Given the description of an element on the screen output the (x, y) to click on. 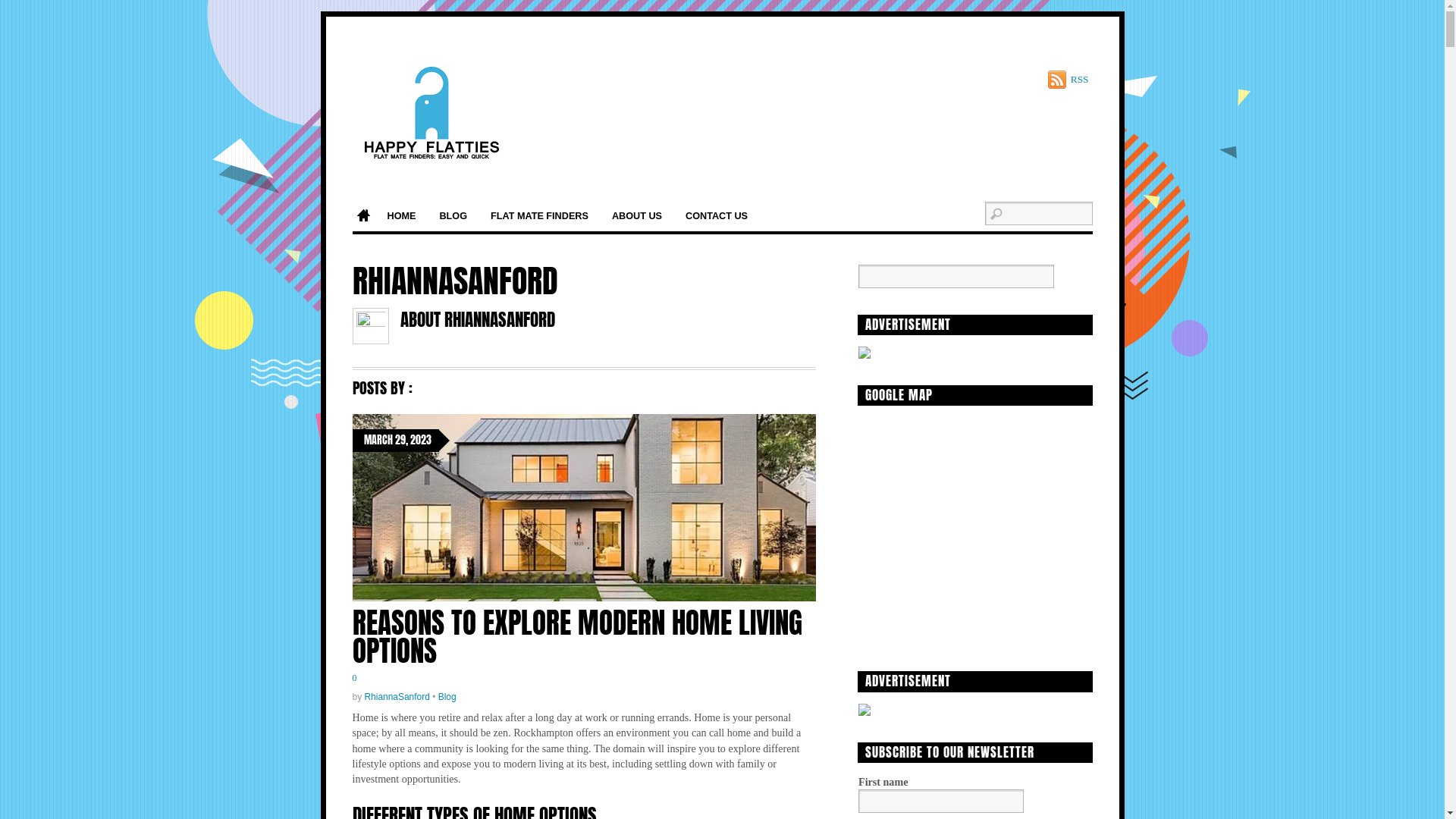
CONTACT US Element type: text (716, 216)
Happy Flatties Element type: hover (430, 111)
Search Element type: hover (956, 276)
BLOG Element type: text (452, 216)
Blog Element type: text (447, 696)
HOME Element type: text (401, 216)
Search Element type: hover (1038, 213)
FLAT MATE FINDERS Element type: text (539, 216)
ABOUT US Element type: text (636, 216)
REASONS TO EXPLORE MODERN HOME LIVING OPTIONS Element type: text (576, 636)
RhiannaSanford Element type: text (396, 696)
First name Element type: hover (940, 800)
Happy Flatties Element type: hover (430, 145)
RSS Element type: text (1068, 79)
0 Element type: text (353, 678)
HOME Element type: text (362, 216)
